Given the description of an element on the screen output the (x, y) to click on. 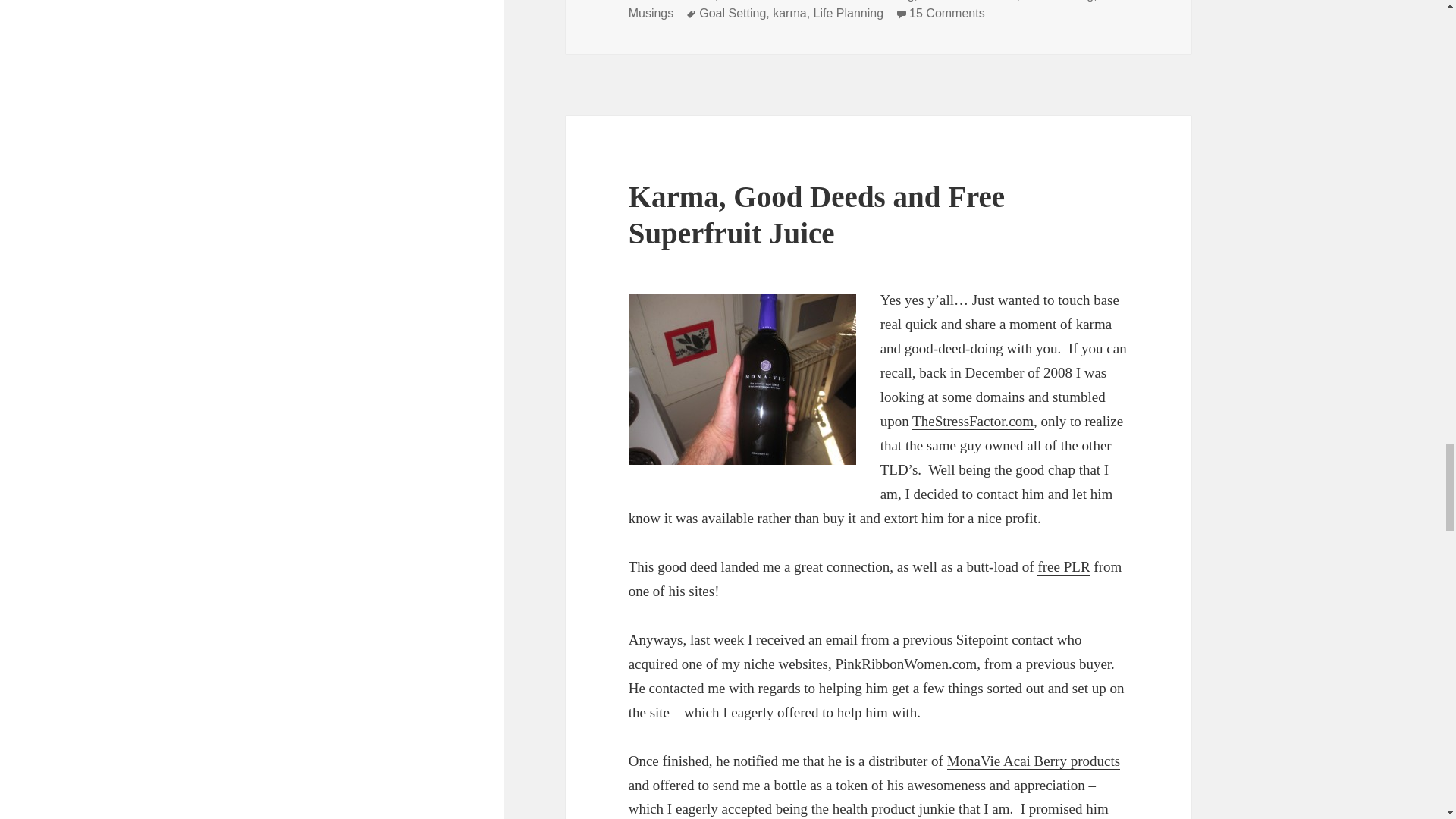
monavie-acai-berry-juice (742, 379)
